Given the description of an element on the screen output the (x, y) to click on. 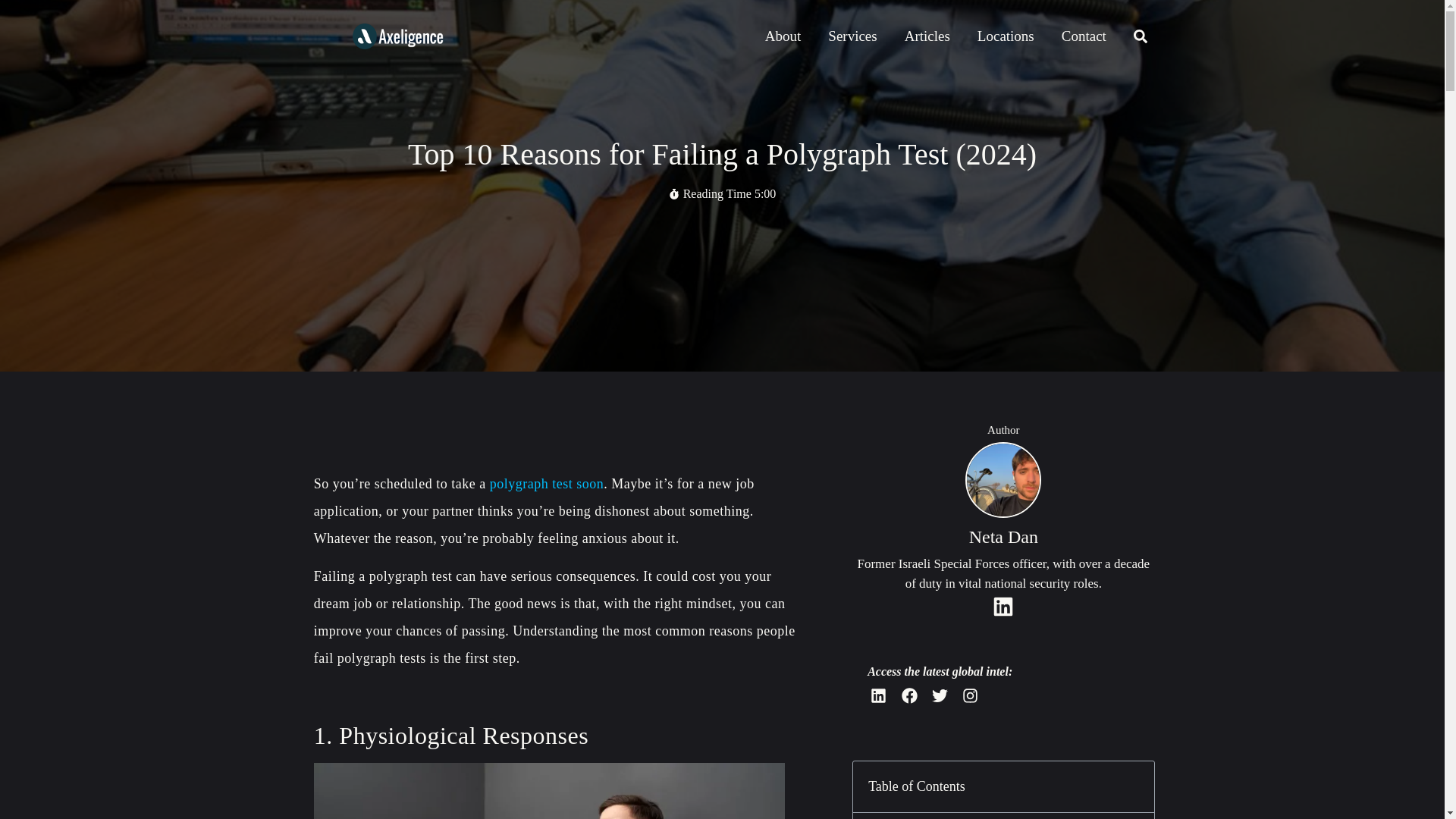
Articles (927, 36)
Locations (1005, 36)
About (783, 36)
Contact (1083, 36)
Services (851, 36)
